Given the description of an element on the screen output the (x, y) to click on. 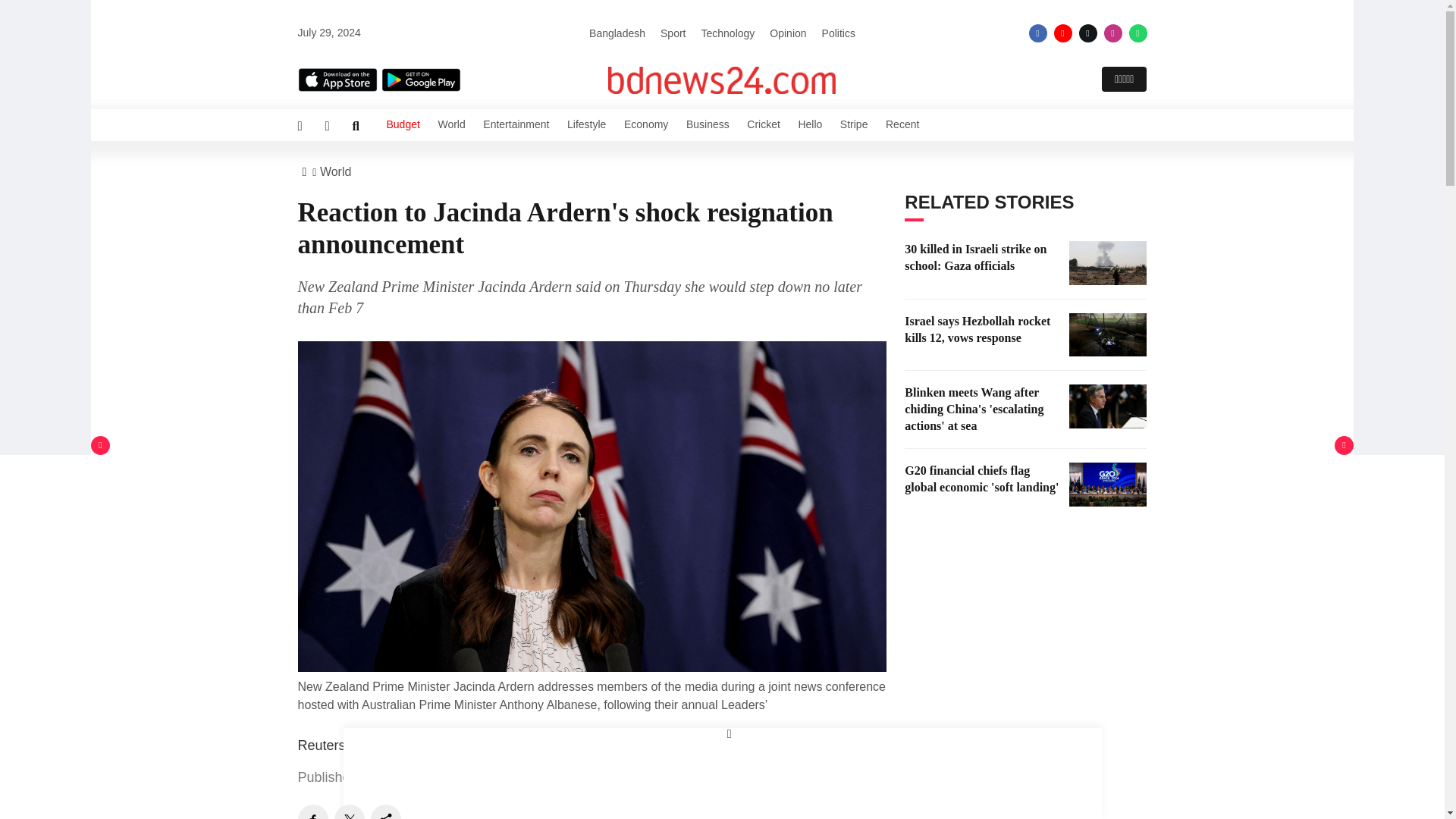
Israel says Hezbollah rocket kills 12, vows response (1107, 334)
3rd party ad content (1018, 782)
G20 financial chiefs flag global economic 'soft landing' (1107, 484)
bdnews24.com (721, 80)
3rd party ad content (1018, 619)
30 killed in Israeli strike on school: Gaza officials (1107, 262)
